Given the description of an element on the screen output the (x, y) to click on. 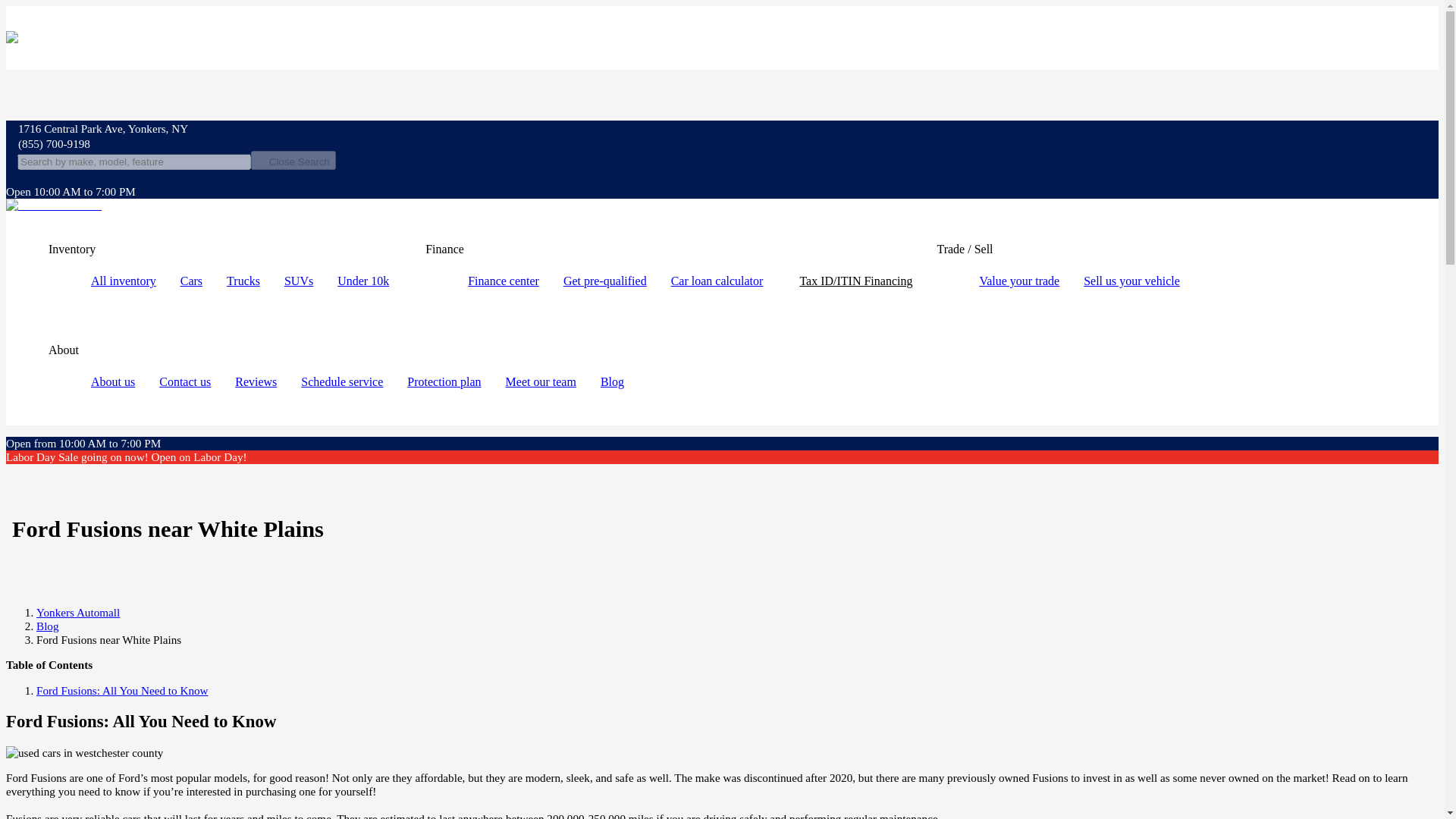
Yonkers Automall (53, 205)
Reviews (255, 381)
Car loan calculator (716, 280)
Reviews (255, 381)
Yonkers Automall (77, 612)
Schedule service (341, 381)
Value your trade (1018, 280)
Contact us (184, 381)
Cars (191, 280)
SUVs (298, 280)
